Given the description of an element on the screen output the (x, y) to click on. 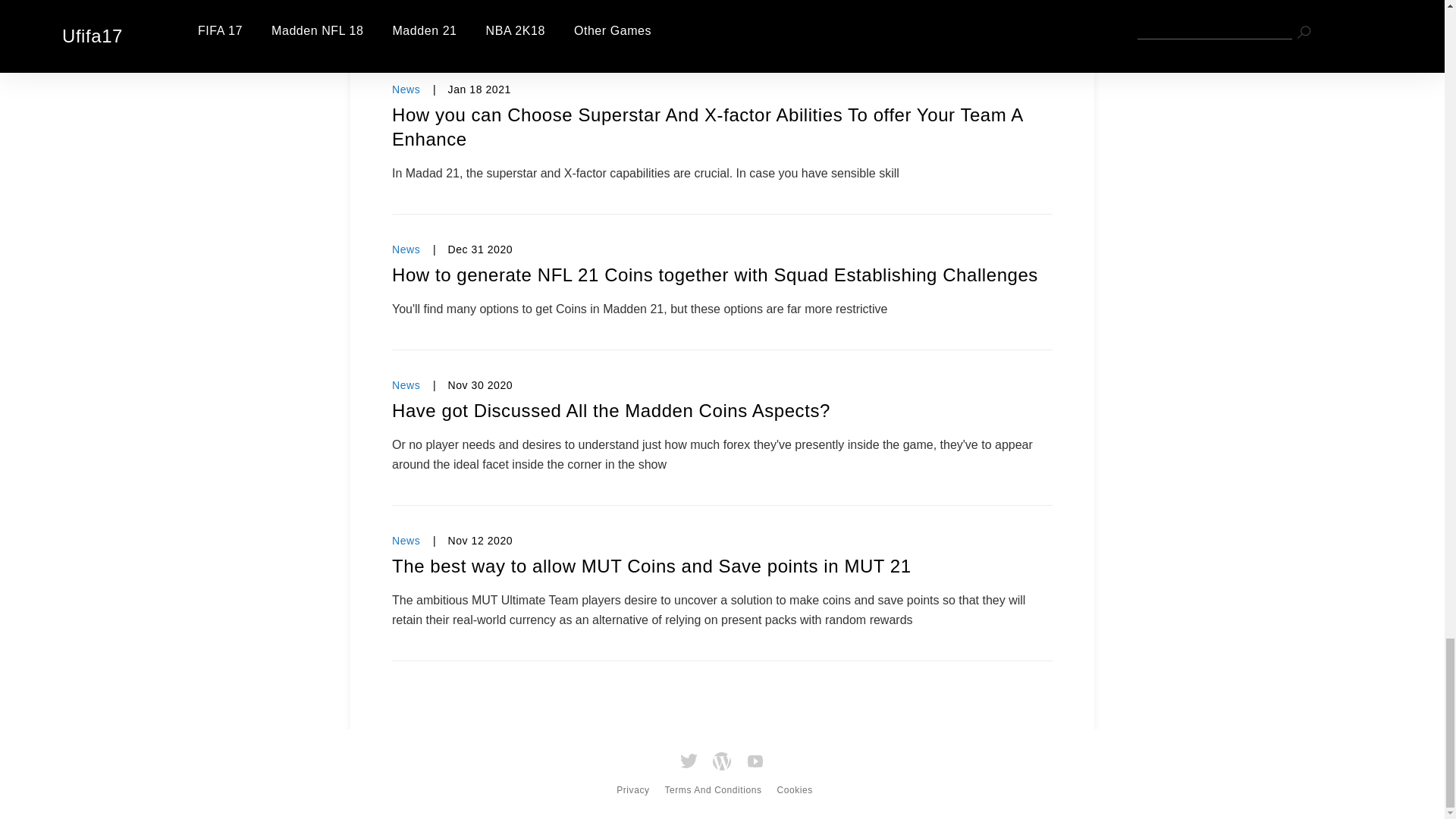
Have got Discussed All the Madden Coins Aspects? (721, 410)
News (405, 249)
News (405, 89)
News (405, 540)
News (405, 385)
